Given the description of an element on the screen output the (x, y) to click on. 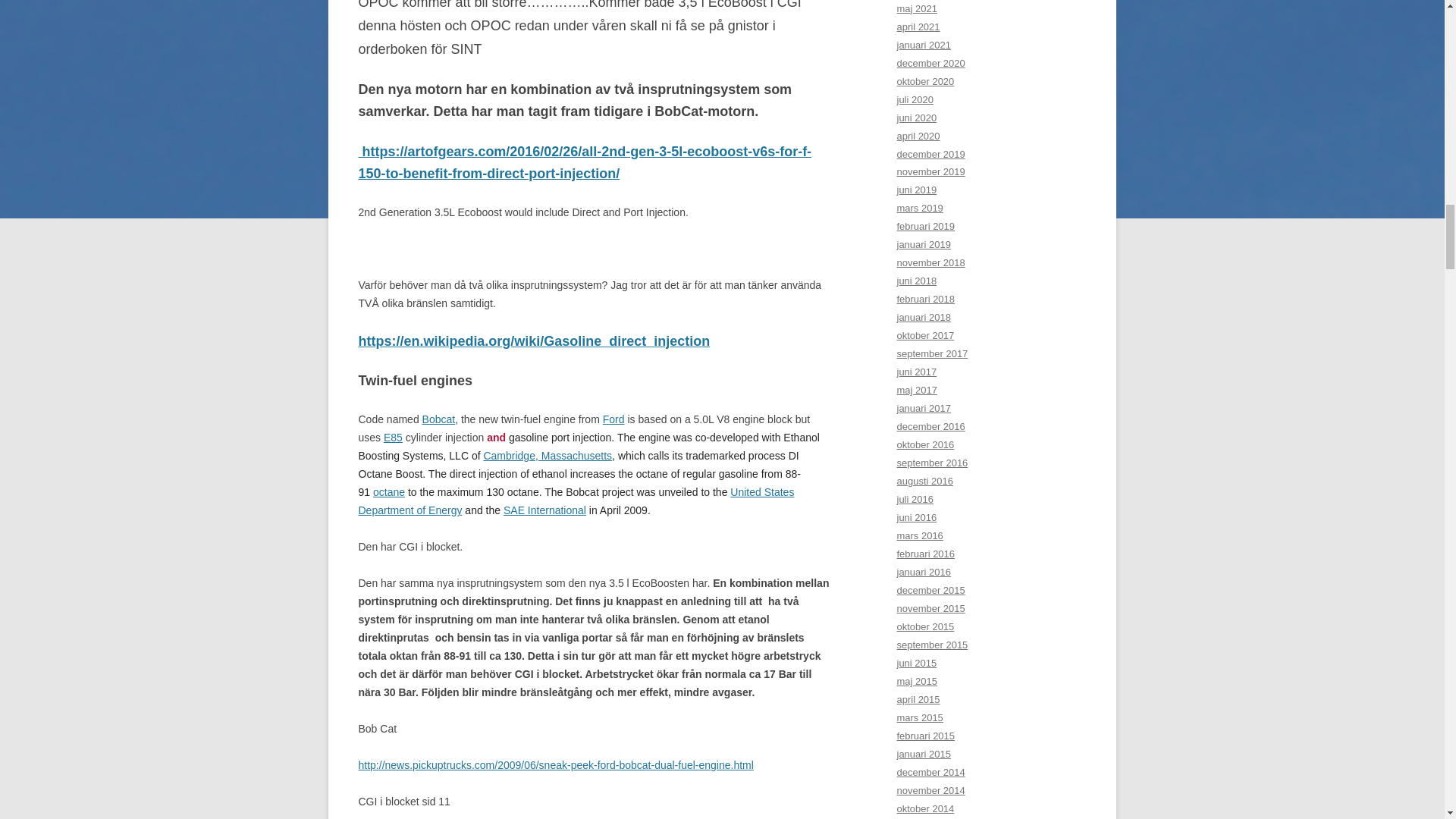
SAE International (544, 510)
United States Department of Energy (575, 501)
octane (388, 491)
United States Department of Energy (575, 501)
Ford EcoBoost engine (438, 419)
Octane rating (388, 491)
Ford (613, 419)
Ford (613, 419)
SAE International (544, 510)
Bobcat (438, 419)
